Given the description of an element on the screen output the (x, y) to click on. 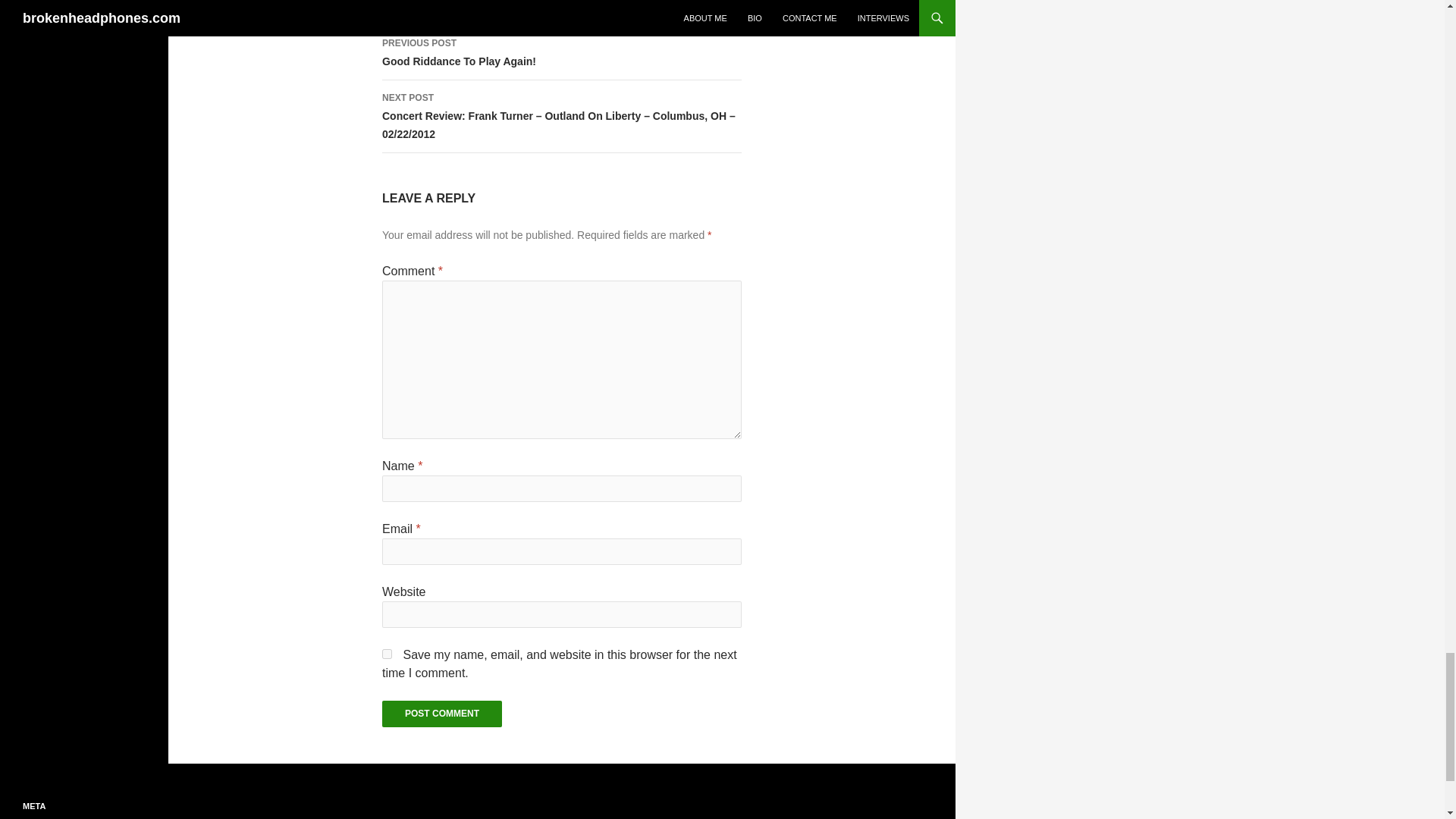
yes (386, 654)
Post Comment (561, 52)
Post Comment (441, 714)
